Given the description of an element on the screen output the (x, y) to click on. 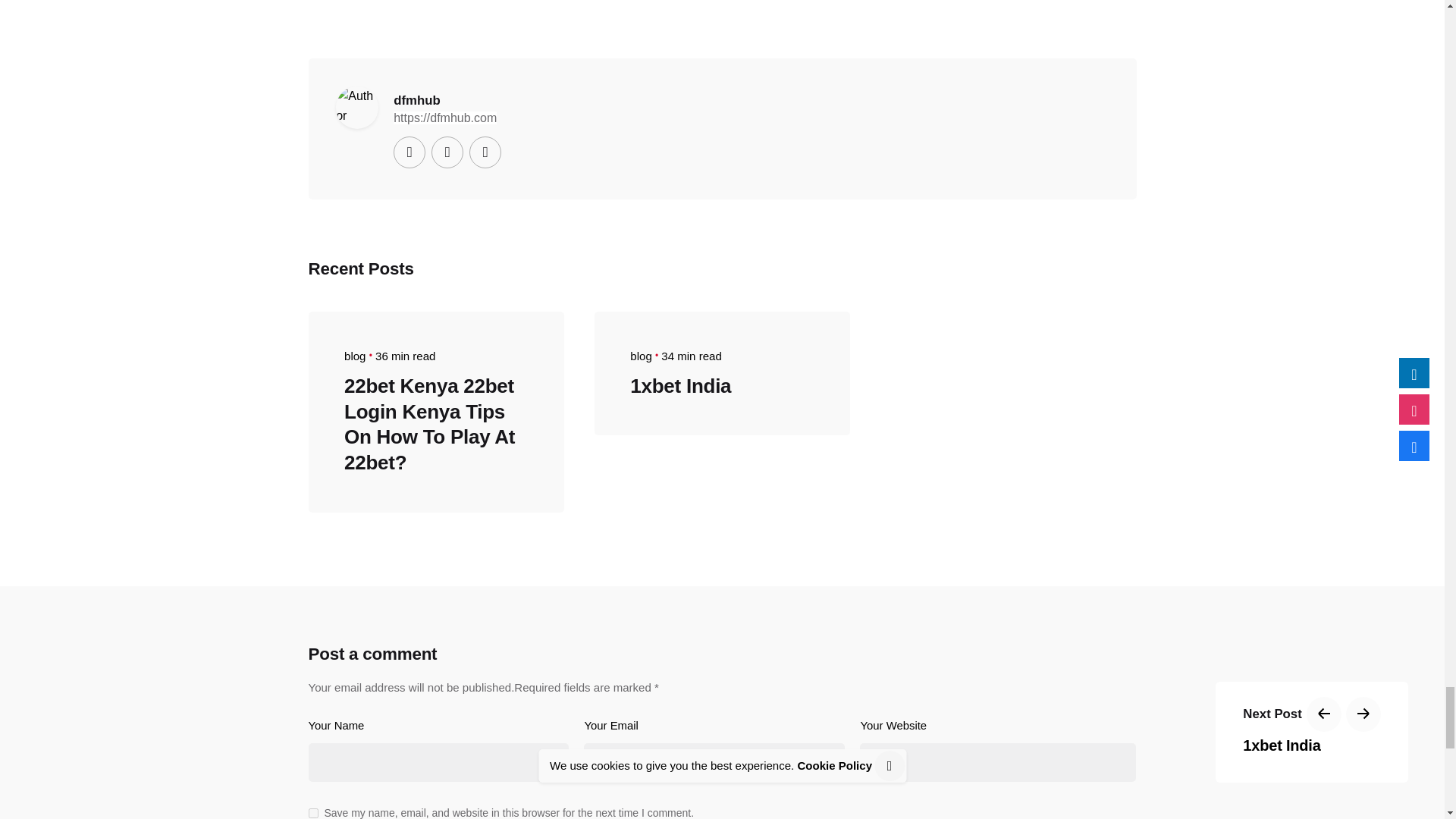
22bet Kenya 22bet Login Kenya Tips On How To Play At 22bet? (429, 424)
blog (640, 355)
yes (312, 813)
blog (354, 355)
1xbet India (680, 385)
